Given the description of an element on the screen output the (x, y) to click on. 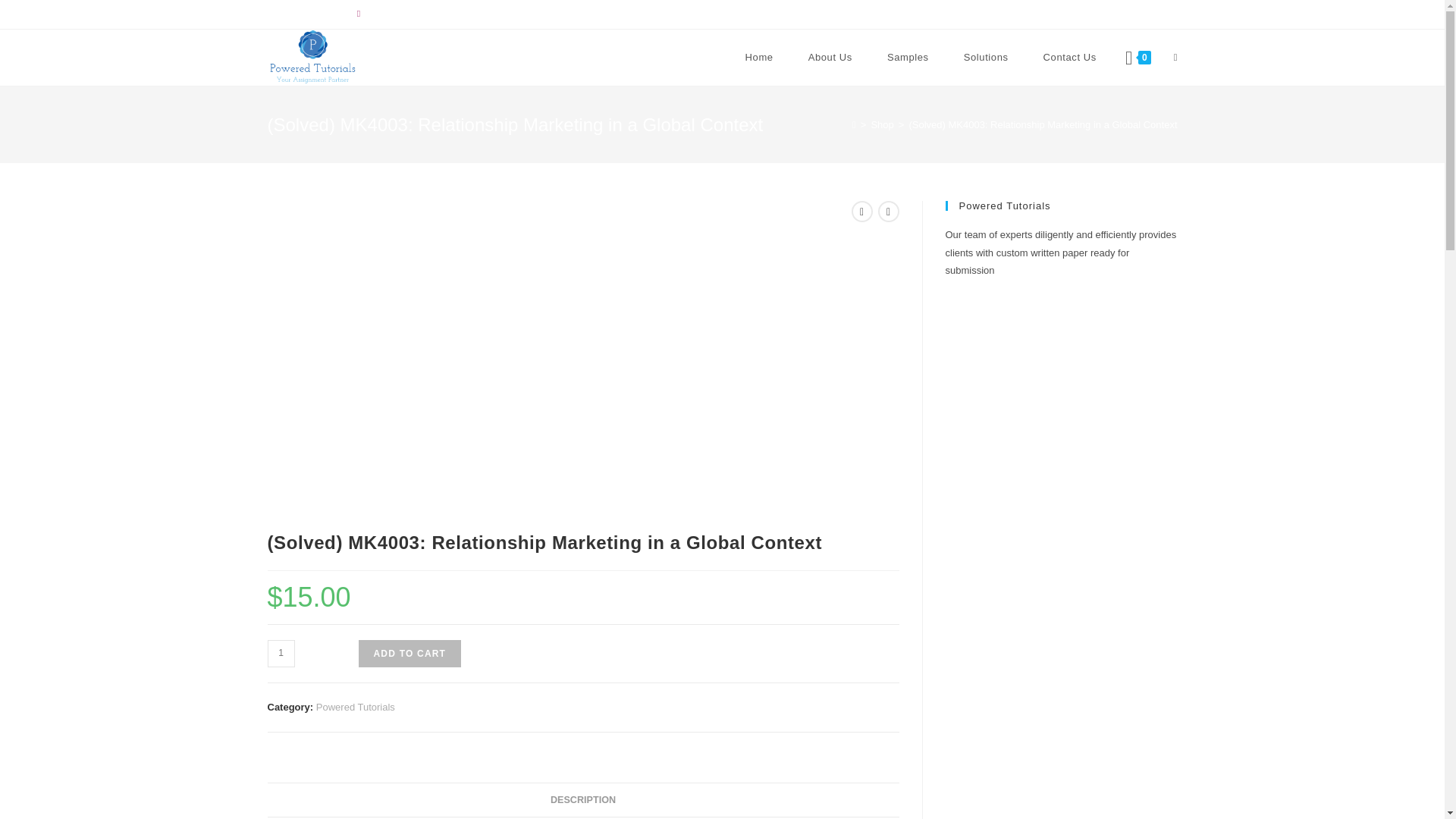
DESCRIPTION (583, 800)
363 (1104, 24)
Samples (907, 57)
Contact Us (1069, 57)
Powered Tutorials (354, 706)
ADD TO CART (409, 653)
Shop (881, 124)
About Us (829, 57)
Track Assignment (302, 13)
Solutions (986, 57)
Home (759, 57)
1 (280, 653)
